Given the description of an element on the screen output the (x, y) to click on. 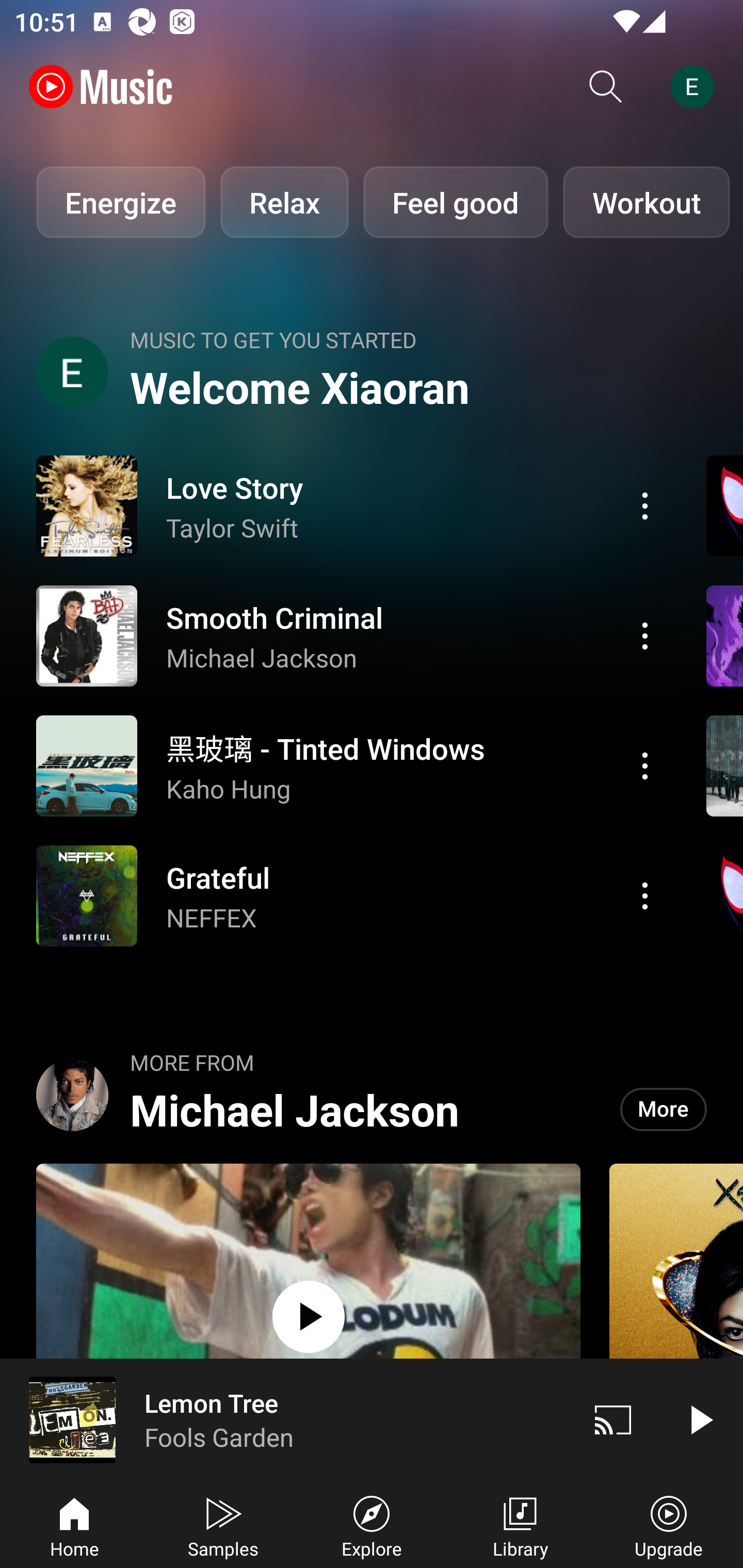
Search (605, 86)
Account (696, 86)
Action menu (349, 505)
Action menu (644, 505)
Action menu (349, 635)
Action menu (644, 635)
Action menu (349, 765)
Action menu (644, 765)
Action menu (349, 896)
Action menu (644, 896)
Lemon Tree Fools Garden (284, 1419)
Cast. Disconnected (612, 1419)
Play video (699, 1419)
Home (74, 1524)
Samples (222, 1524)
Explore (371, 1524)
Library (519, 1524)
Upgrade (668, 1524)
